Given the description of an element on the screen output the (x, y) to click on. 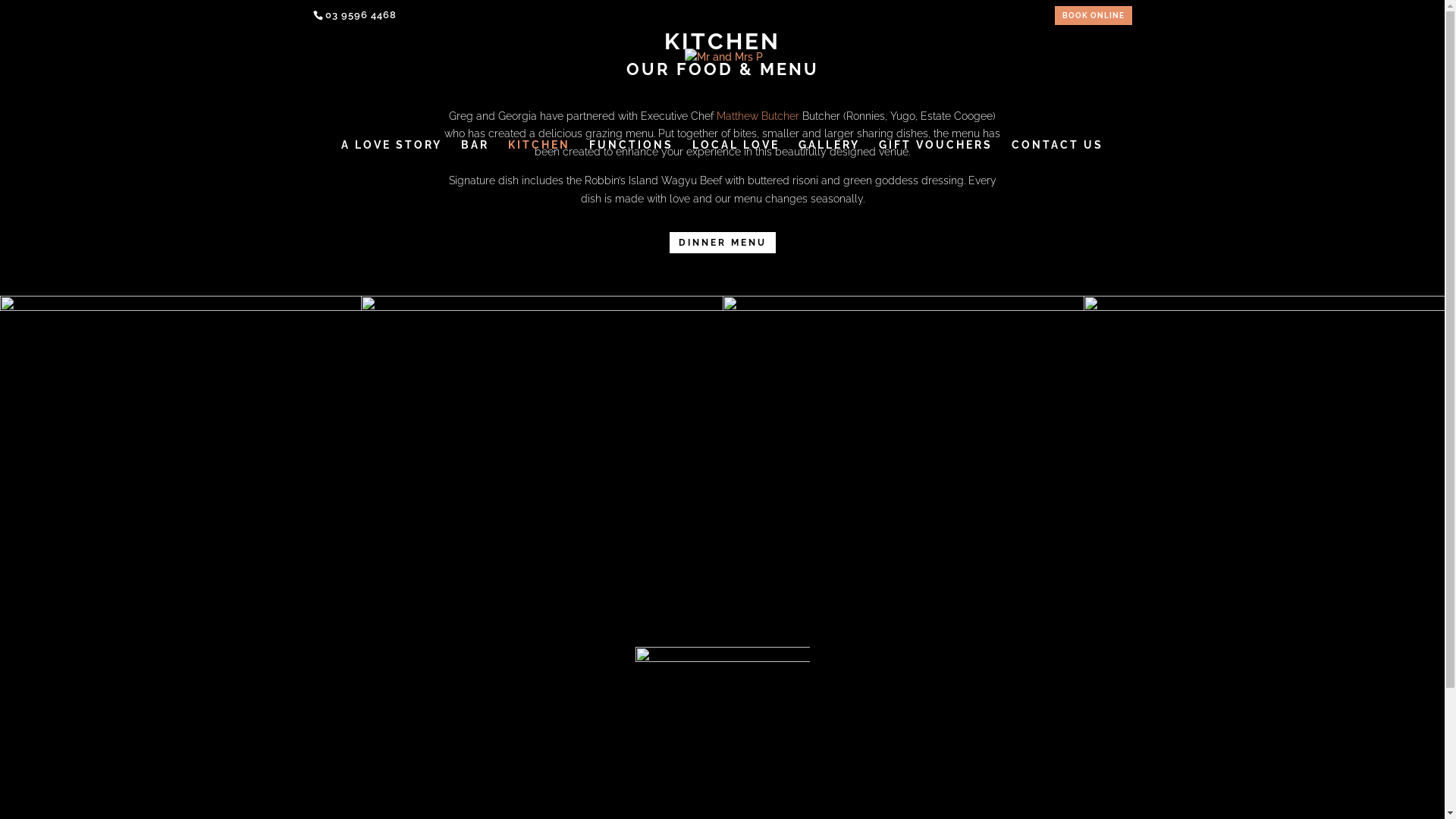
GIFT VOUCHERS Element type: text (935, 154)
BAR Element type: text (475, 154)
DINNER MENU Element type: text (721, 242)
GALLERY Element type: text (828, 154)
KITCHEN Element type: text (539, 154)
FUNCTIONS Element type: text (631, 154)
BOOK ONLINE Element type: text (1092, 18)
CONTACT US Element type: text (1057, 154)
LOCAL LOVE Element type: text (735, 154)
Matthew Butcher Element type: text (757, 115)
A LOVE STORY Element type: text (391, 154)
